Given the description of an element on the screen output the (x, y) to click on. 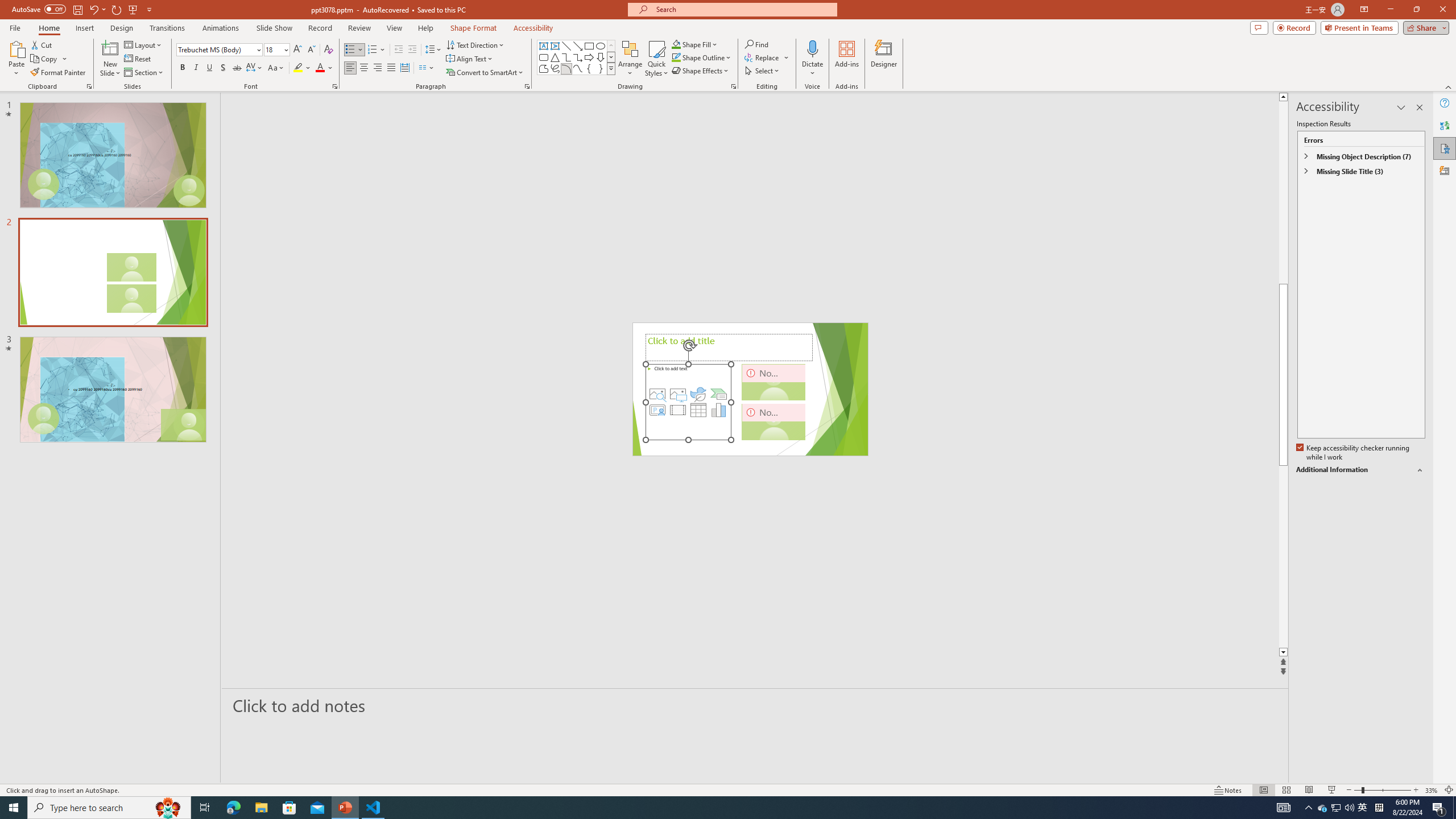
Insert Cameo (656, 409)
